Given the description of an element on the screen output the (x, y) to click on. 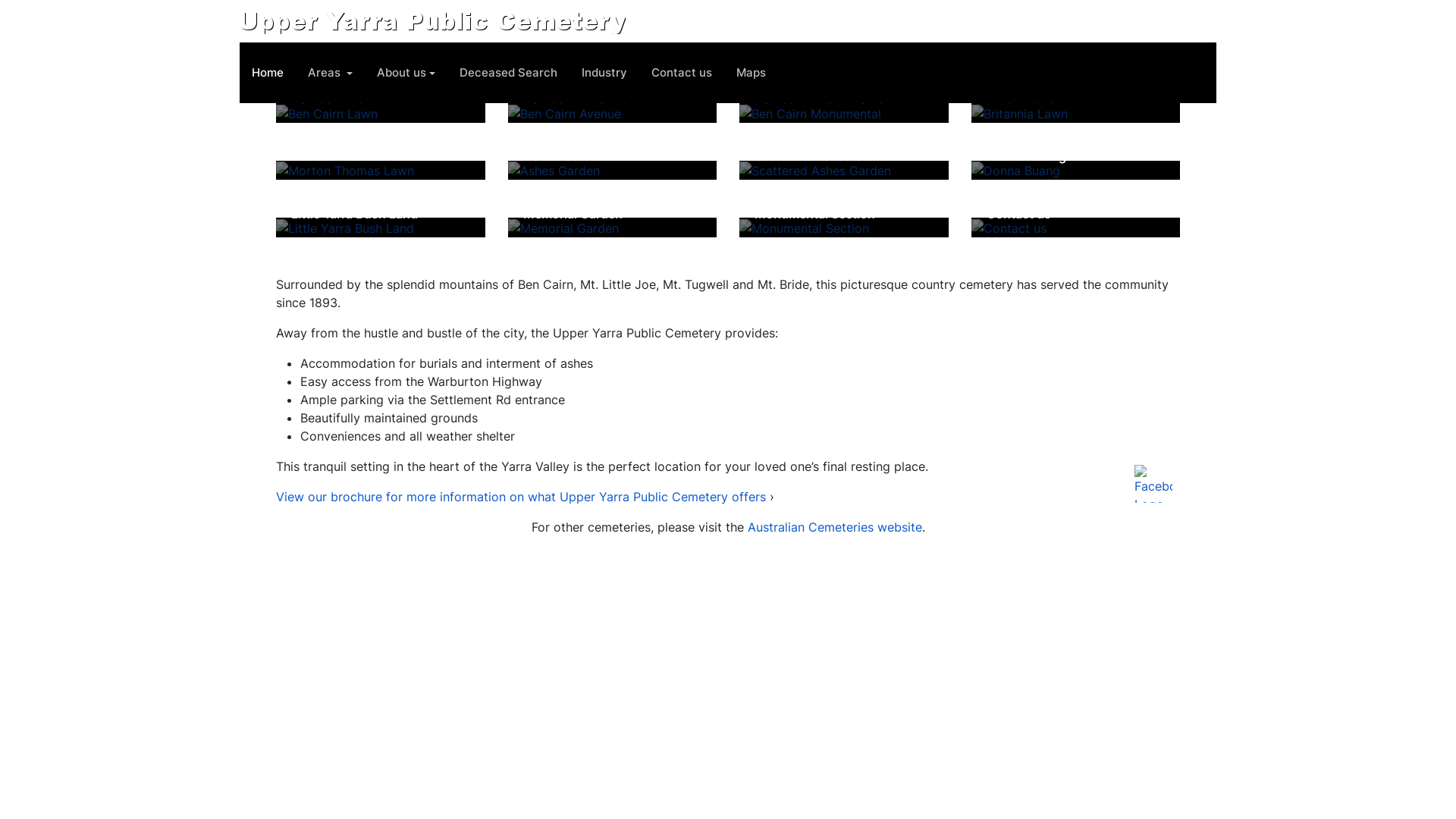
Monumental Section Element type: text (814, 213)
Scattered Ashes Garden Element type: text (825, 155)
Little Yarra Bush Land Element type: text (354, 213)
Industry Element type: text (604, 72)
Morton Thomas Lawn Element type: text (355, 155)
Ben Cairn Avenue Element type: text (575, 98)
Ashes Garden Element type: text (564, 155)
Home Element type: text (267, 72)
Contact us Element type: text (1017, 213)
Contact us Element type: text (681, 72)
Donna Buang Element type: text (1025, 155)
Australian Cemeteries website Element type: text (834, 526)
Britannia Lawn Element type: text (1028, 98)
Ben Cairn Lawn Element type: text (336, 98)
About us Element type: text (405, 72)
Ben Cairn Monumental Element type: text (821, 98)
Maps Element type: text (751, 72)
Memorial Garden Element type: text (572, 213)
Deceased Search Element type: text (508, 72)
